Given the description of an element on the screen output the (x, y) to click on. 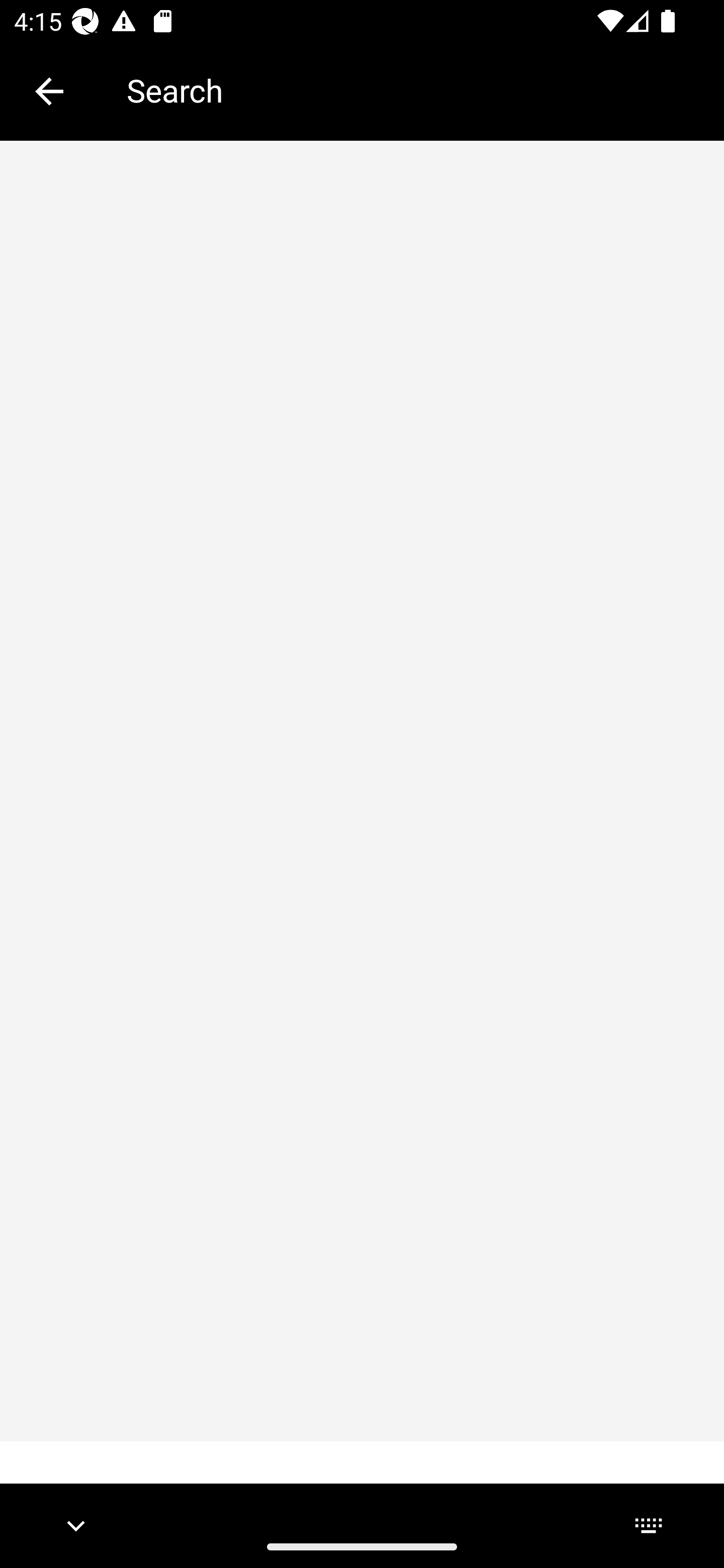
Collapse (49, 91)
Search (411, 90)
